Given the description of an element on the screen output the (x, y) to click on. 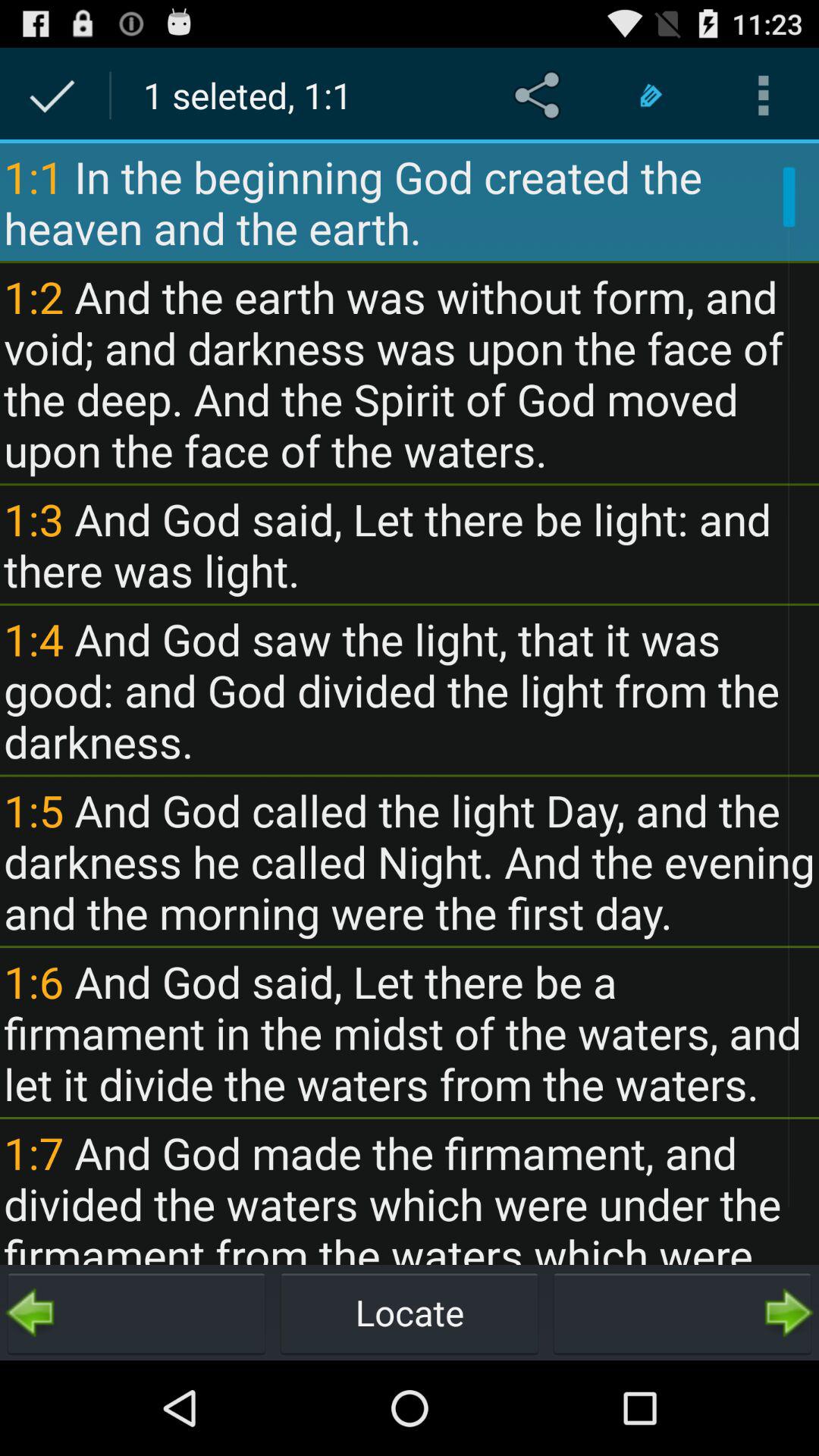
choose button next to the locate (136, 1312)
